Given the description of an element on the screen output the (x, y) to click on. 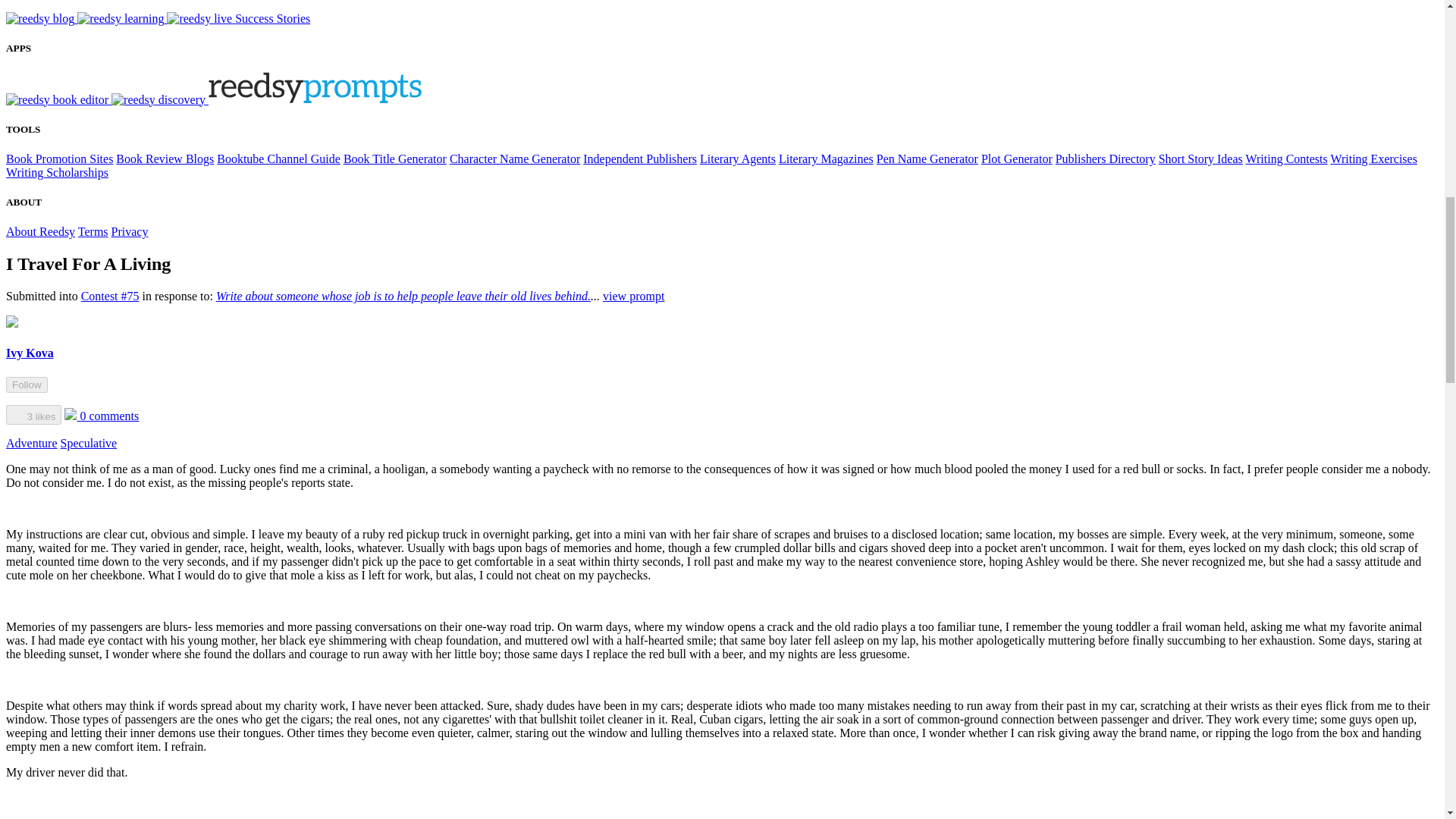
0 comments (101, 415)
